Given the description of an element on the screen output the (x, y) to click on. 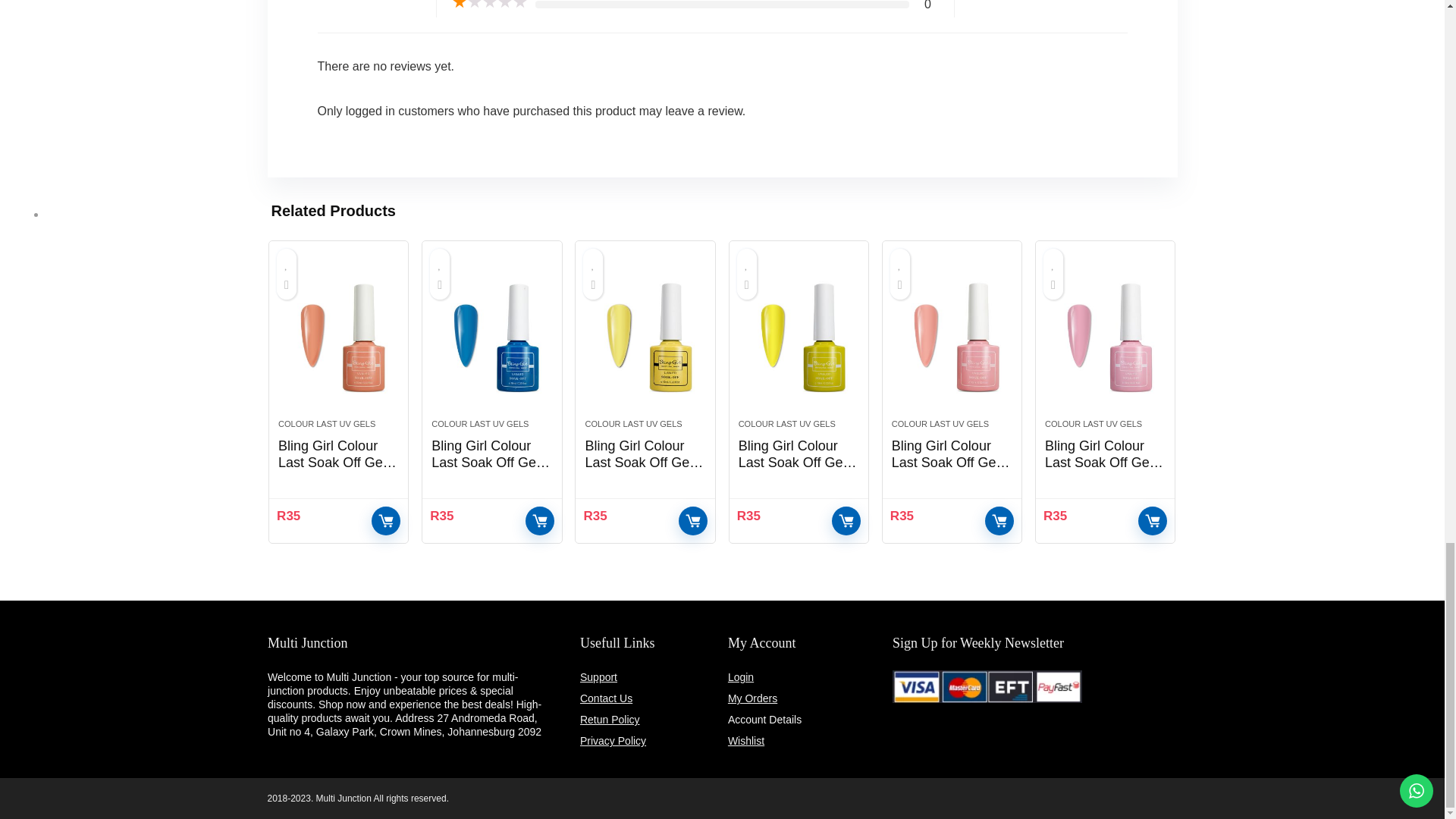
ADD TO CART (385, 520)
Rated 1 out of 5 (489, 4)
COLOUR LAST UV GELS (326, 423)
